Given the description of an element on the screen output the (x, y) to click on. 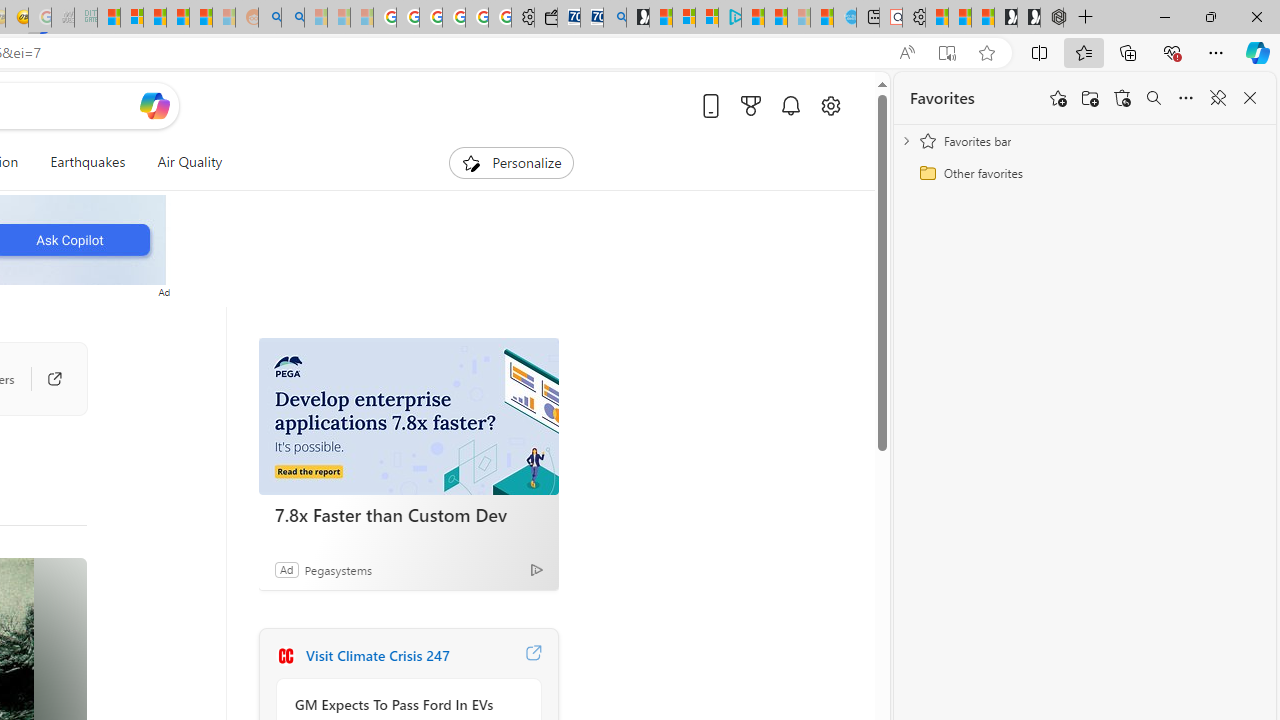
Unpin favorites (1217, 98)
Close favorites (1250, 98)
Bing Real Estate - Home sales and rental listings (614, 17)
GM Expects To Pass Ford In EVs (403, 704)
Restore deleted favorites (1122, 98)
Go to publisher's site (54, 378)
